Given the description of an element on the screen output the (x, y) to click on. 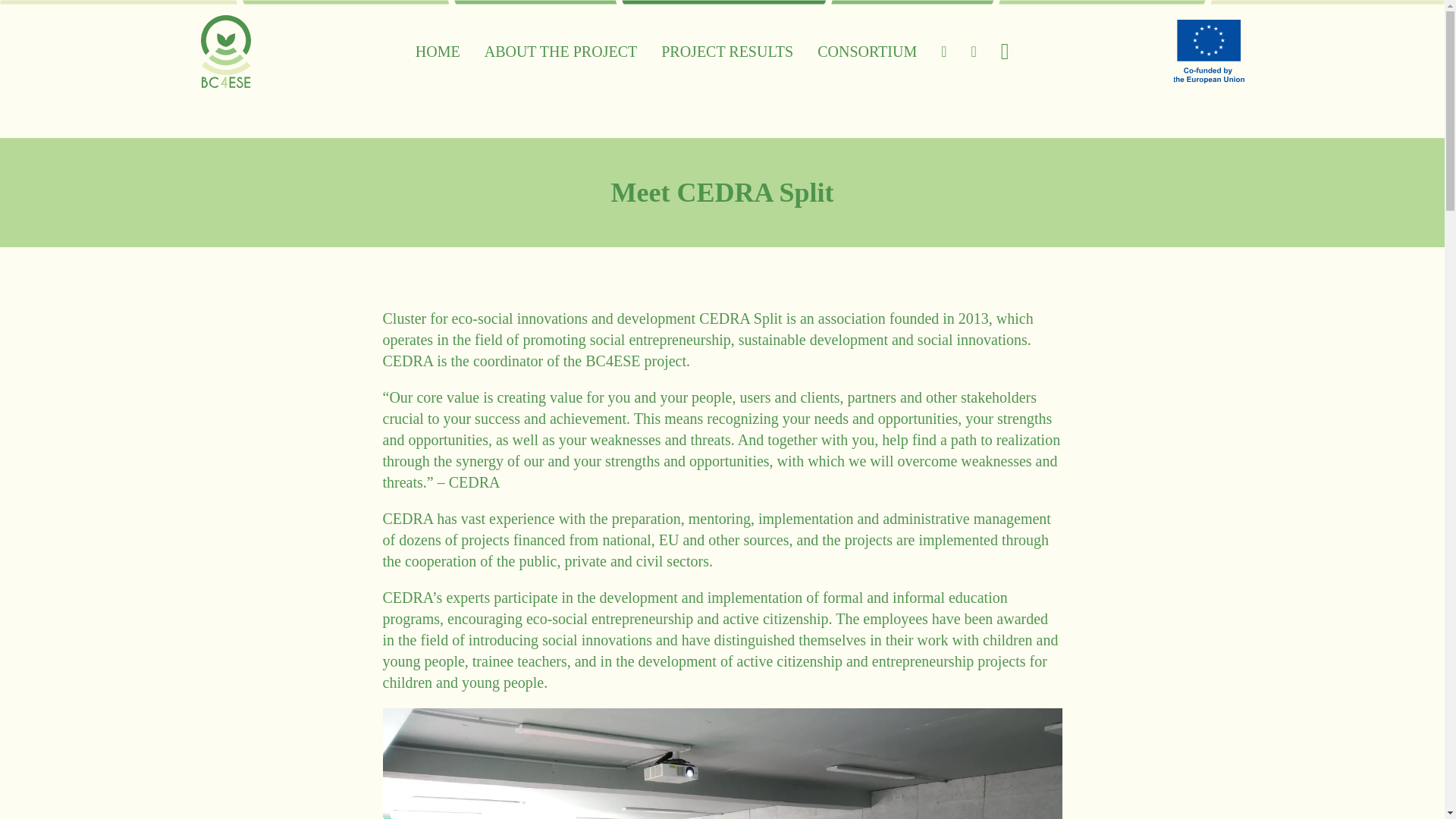
ABOUT THE PROJECT (560, 51)
HOME (437, 51)
PROJECT RESULTS (727, 51)
CONSORTIUM (866, 51)
